Given the description of an element on the screen output the (x, y) to click on. 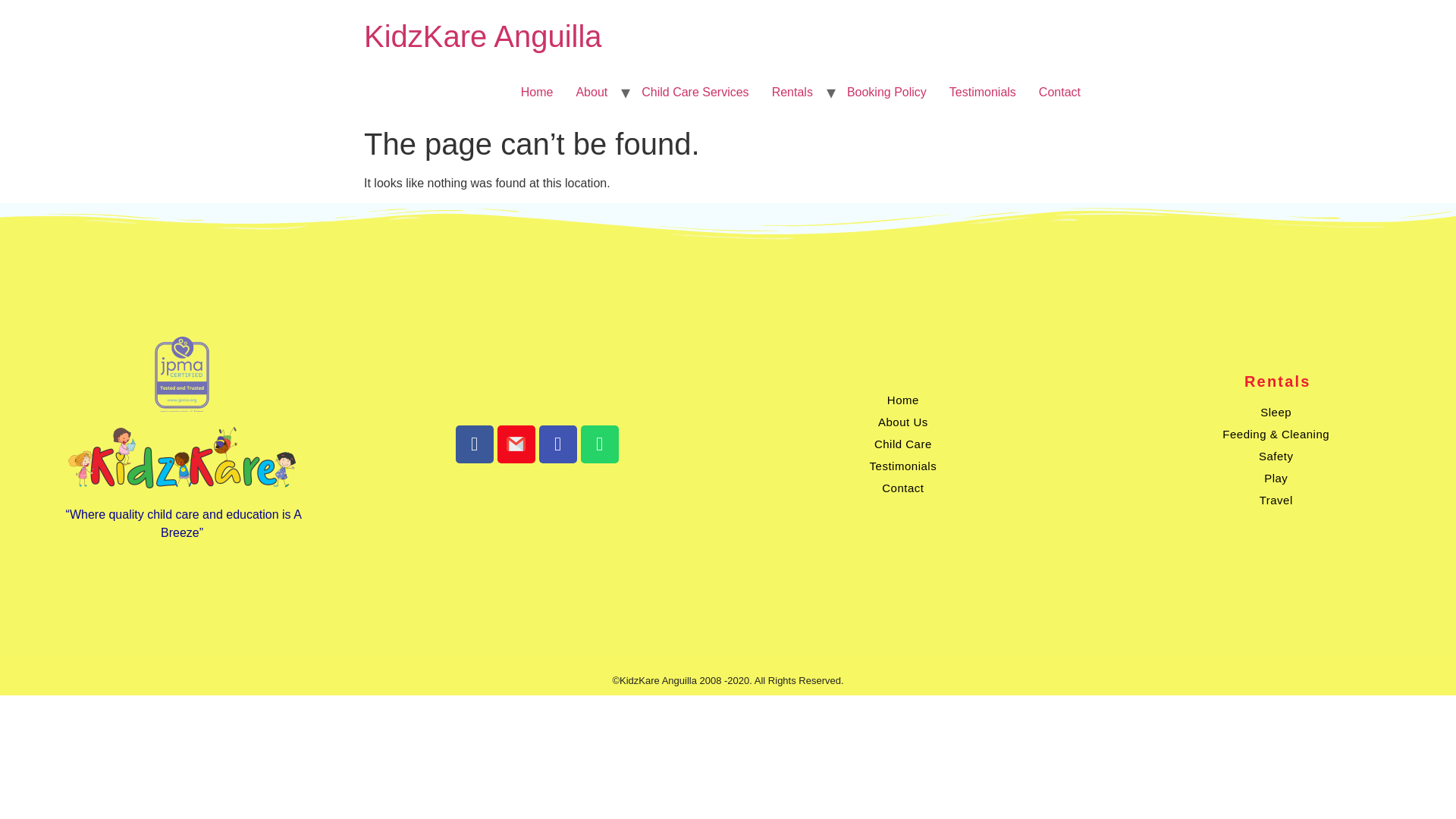
Child Care Services (695, 91)
logo (181, 373)
Contact (903, 487)
Travel (1275, 499)
Home (536, 91)
Safety (1275, 455)
Play (1275, 477)
About (591, 91)
Home (903, 400)
Testimonials (982, 91)
